Given the description of an element on the screen output the (x, y) to click on. 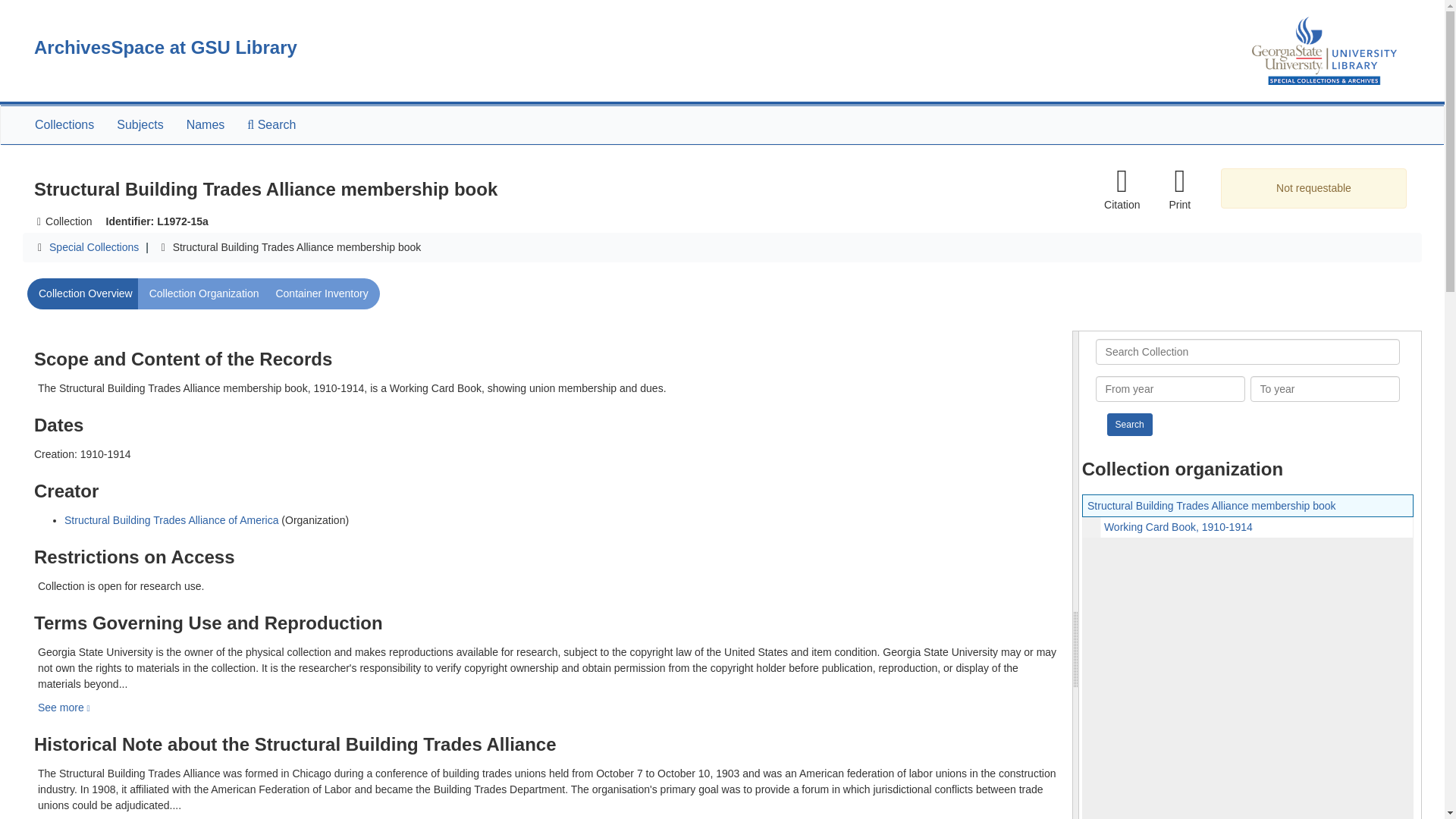
Special Collections (93, 246)
Return to the ArchivesSpace homepage (165, 46)
Collection Overview (85, 293)
Page Actions (1130, 188)
Names (204, 125)
Collections (63, 125)
Search (1129, 424)
Search (1129, 424)
Working Card Book (1247, 526)
Structural Building Trades Alliance membership book (1211, 505)
